Given the description of an element on the screen output the (x, y) to click on. 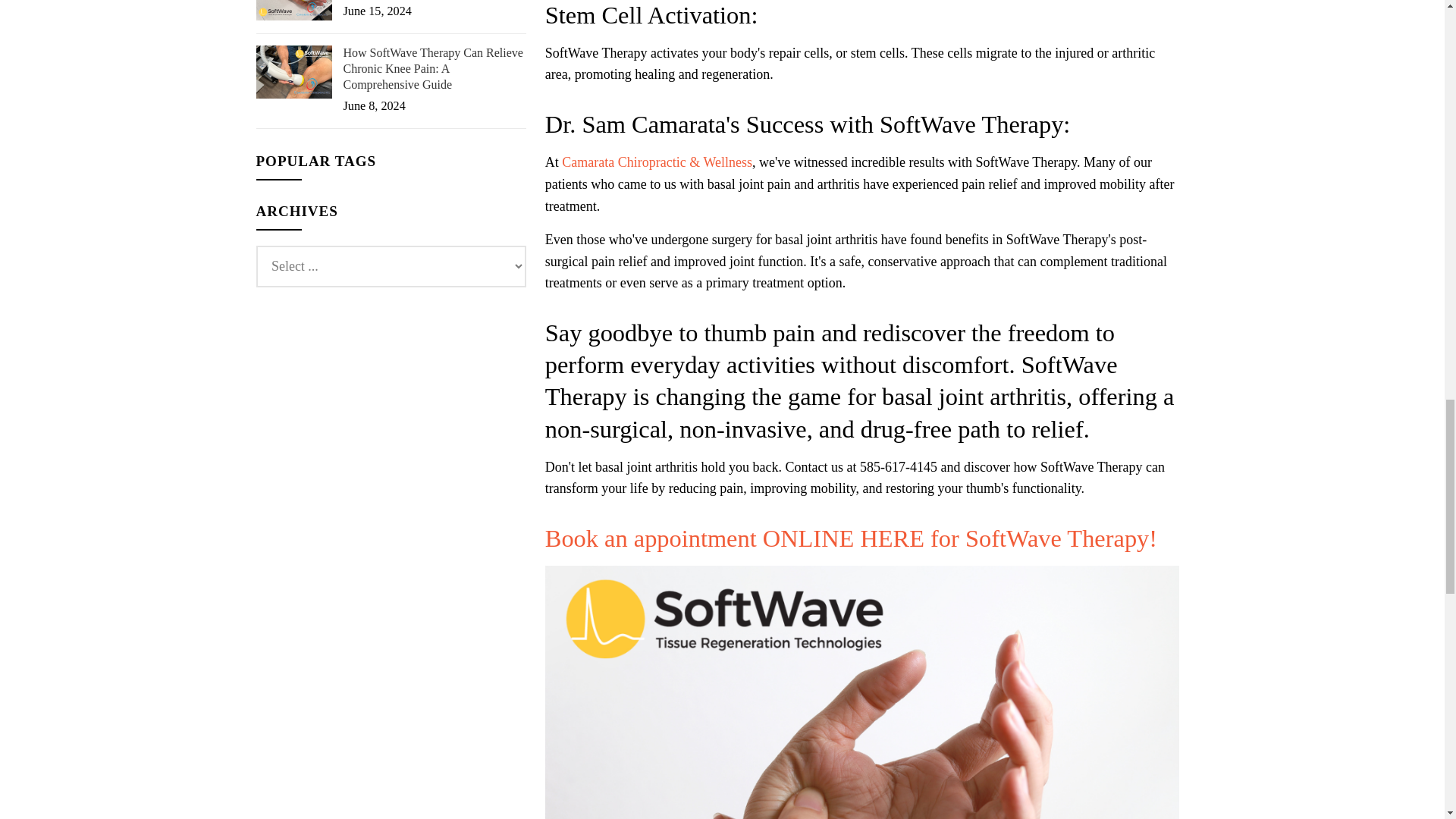
Book an appointment ONLINE HERE for SoftWave Therapy! (850, 538)
